Given the description of an element on the screen output the (x, y) to click on. 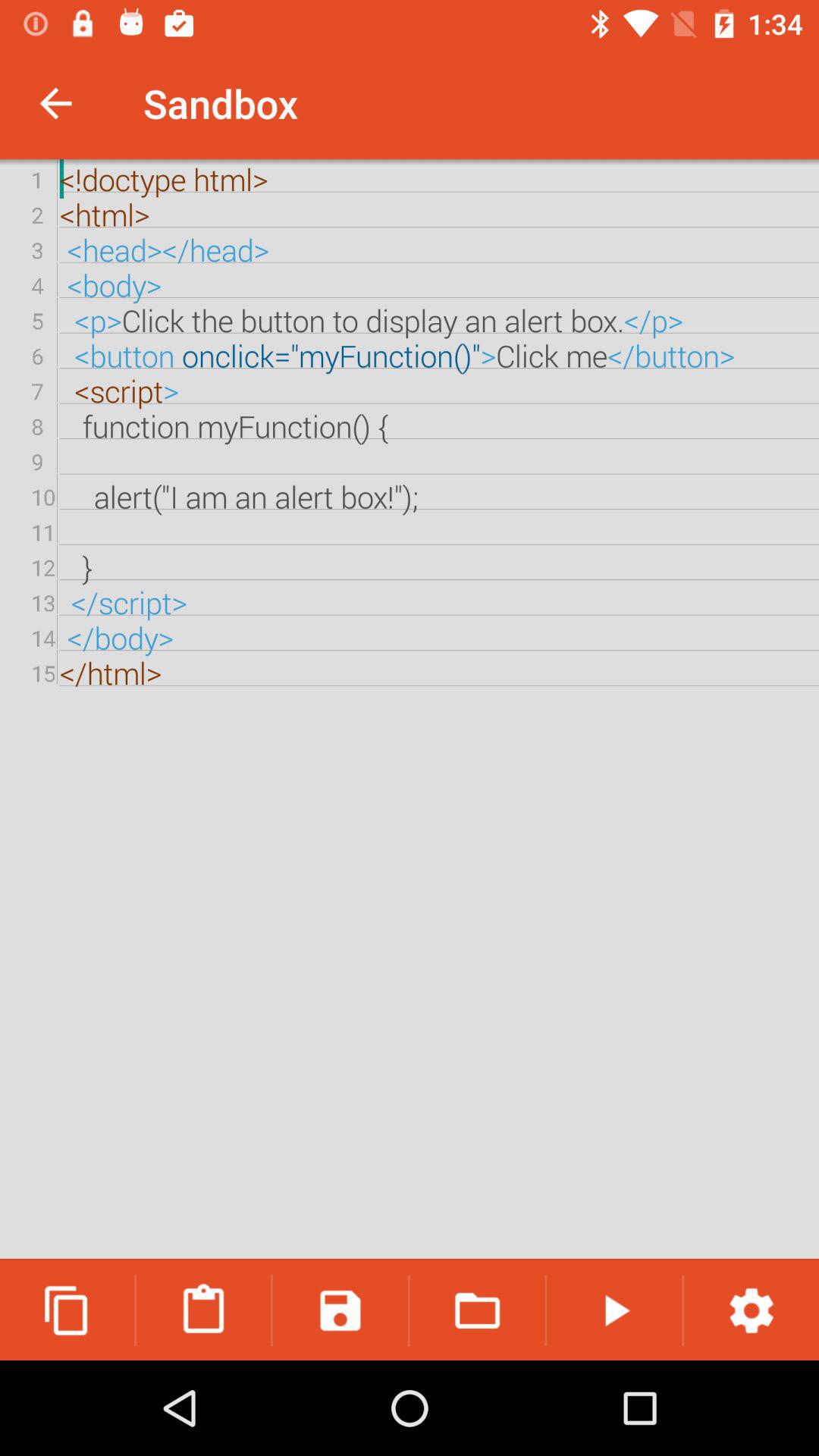
open icon below the doctype html html (340, 1310)
